Given the description of an element on the screen output the (x, y) to click on. 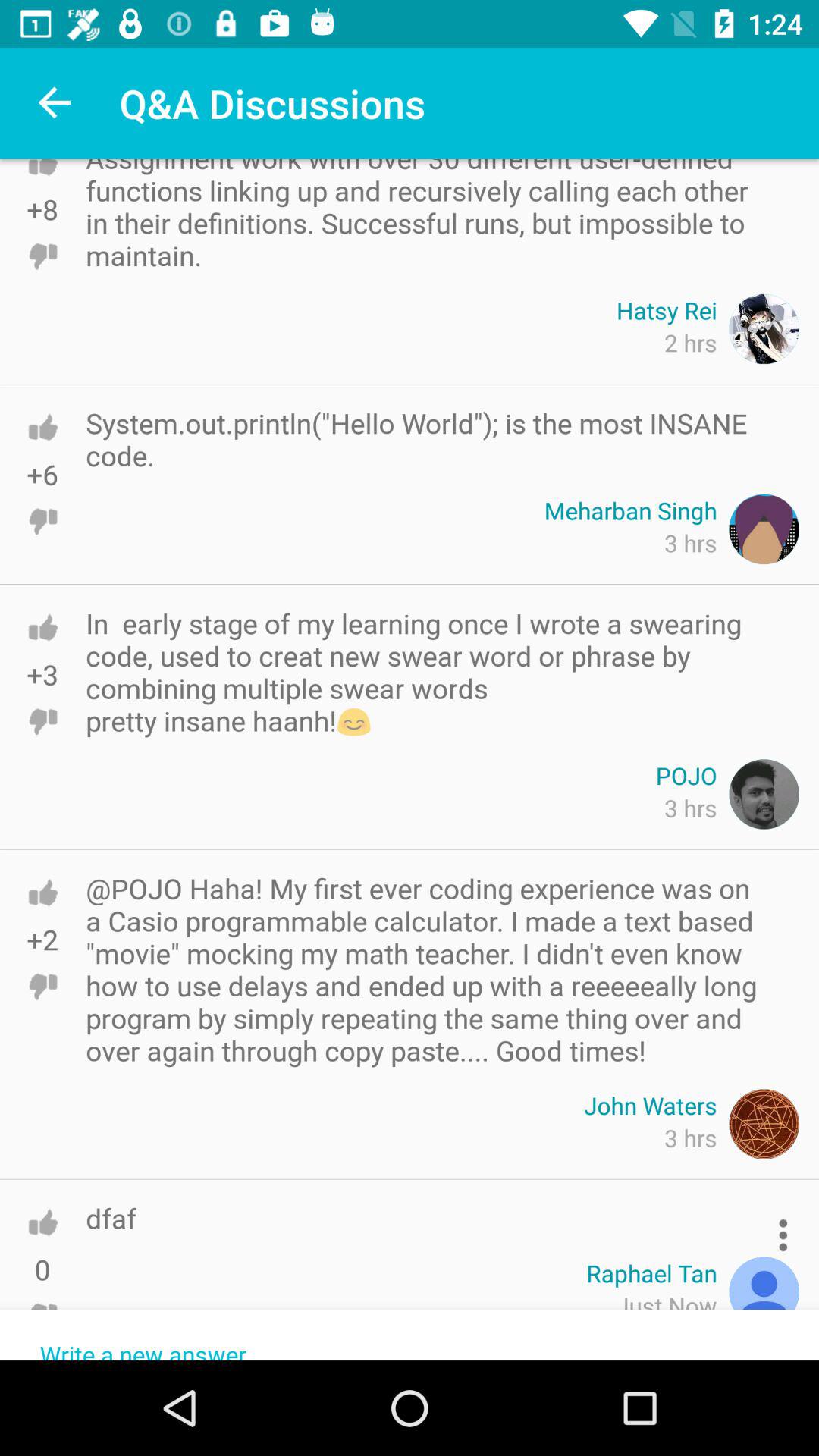
like (42, 1222)
